Given the description of an element on the screen output the (x, y) to click on. 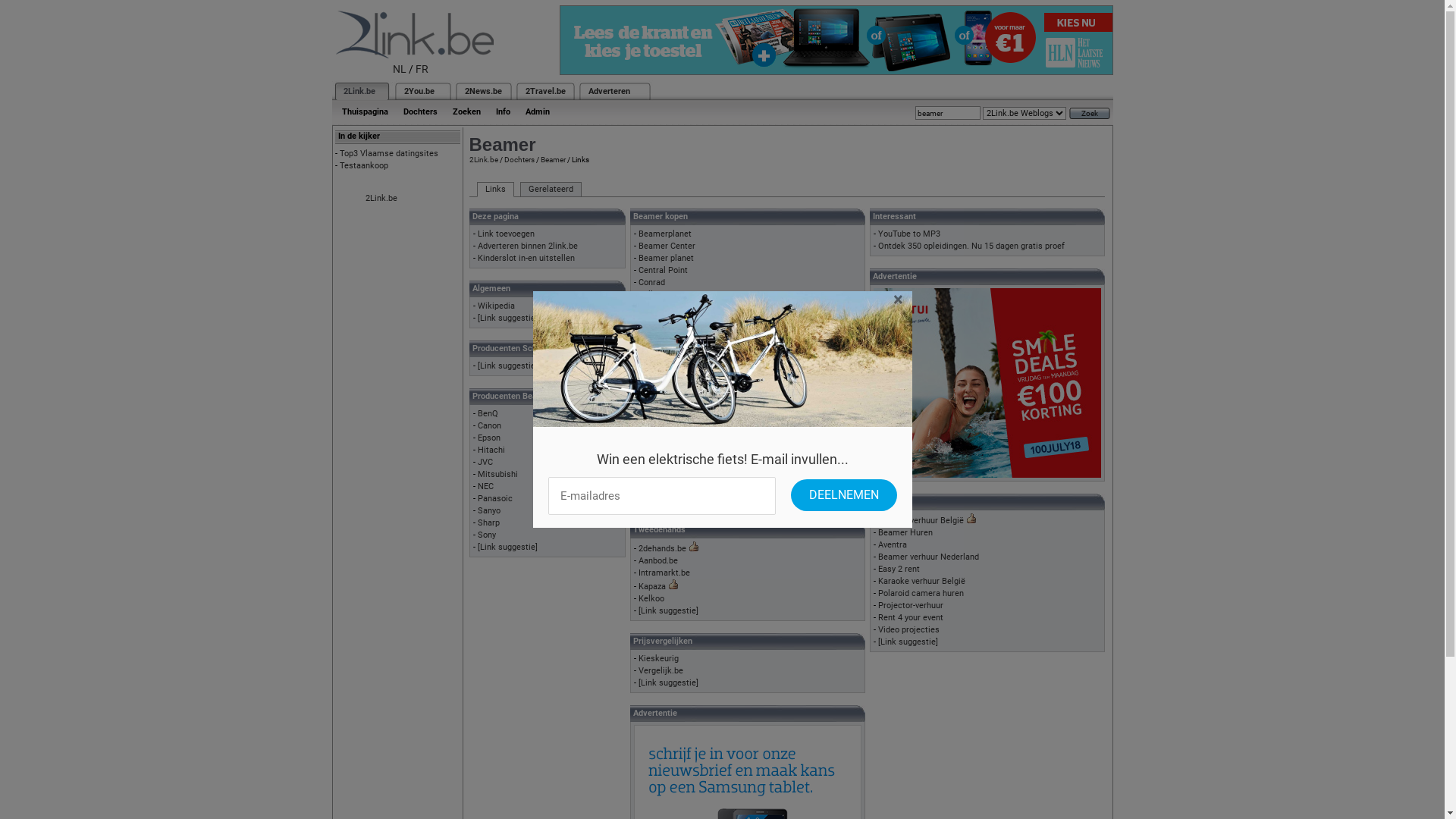
Sharp Element type: text (488, 522)
Dochters Element type: text (420, 111)
2Link.be Element type: text (381, 198)
Makro shop Element type: text (660, 318)
[Link suggestie] Element type: text (668, 427)
Vergelijk.be Element type: text (660, 670)
Kelkoo Element type: text (651, 598)
Easy 2 rent Element type: text (898, 569)
[Link suggestie] Element type: text (908, 641)
[Link suggestie] Element type: text (668, 682)
Dochters Element type: text (518, 159)
2News.be Element type: text (482, 91)
Beamer Huren Element type: text (905, 532)
Wikipedia Element type: text (495, 305)
[Link suggestie] Element type: text (668, 367)
[Link suggestie] Element type: text (507, 365)
Adverteren binnen 2link.be Element type: text (527, 246)
Conrad Element type: text (651, 487)
Epson Element type: text (488, 437)
Kieskeurig Element type: text (658, 658)
NEC Element type: text (485, 486)
2dehands.be Element type: text (662, 548)
BenQ Element type: text (487, 413)
2Travel.be Element type: text (544, 91)
Aventra Element type: text (892, 544)
[Link suggestie] Element type: text (668, 610)
Beamer planet Element type: text (665, 258)
Pix-Mania Element type: text (656, 343)
Links Element type: text (494, 189)
Intramarkt.be Element type: text (664, 572)
Beamer Element type: text (551, 159)
Adverteren Element type: text (609, 91)
Top3 Vlaamse datingsites Element type: text (388, 153)
YouTube to MP3 Element type: text (909, 233)
Sony Element type: text (486, 534)
Overtoom Element type: text (656, 330)
Beamer Center Element type: text (666, 246)
2Link.be Element type: text (482, 159)
Kinderslot in-en uitstellen Element type: text (525, 258)
JVC Element type: text (484, 462)
Zoek Element type: text (1089, 113)
Video projector Element type: text (667, 355)
Beamer verhuur Nederland Element type: text (928, 556)
Zoeken Element type: text (465, 111)
Testaankoop Element type: text (363, 165)
Panasoic Element type: text (494, 498)
Polaroid camera huren Element type: text (920, 593)
Info Element type: text (502, 111)
Beamer Center Element type: text (666, 475)
Ontdek 350 opleidingen. Nu 15 dagen gratis proef Element type: text (971, 246)
Thuispagina Element type: text (364, 111)
Central Point Element type: text (662, 270)
Admin Element type: text (536, 111)
Kapaza Element type: text (651, 586)
Gerelateerd Element type: text (550, 189)
NL Element type: text (399, 68)
2You.be Element type: text (418, 91)
Sanyo Element type: text (488, 510)
FR Element type: text (421, 68)
Mitsubishi Element type: text (497, 474)
Conrad Element type: text (651, 282)
Projector-verhuur Element type: text (910, 605)
[Link suggestie] Element type: text (507, 547)
Canon Element type: text (489, 425)
2Link.be Element type: text (358, 91)
Rent 4 your event Element type: text (910, 617)
Beamerplanet Element type: text (664, 233)
Aanbod.be Element type: text (657, 560)
[Link suggestie] Element type: text (507, 318)
Video projecties Element type: text (908, 629)
Beamer Center Element type: text (666, 415)
Hitachi Element type: text (491, 450)
Link toevoegen Element type: text (505, 233)
[Link suggestie] Element type: text (668, 499)
Dell Element type: text (645, 294)
